Given the description of an element on the screen output the (x, y) to click on. 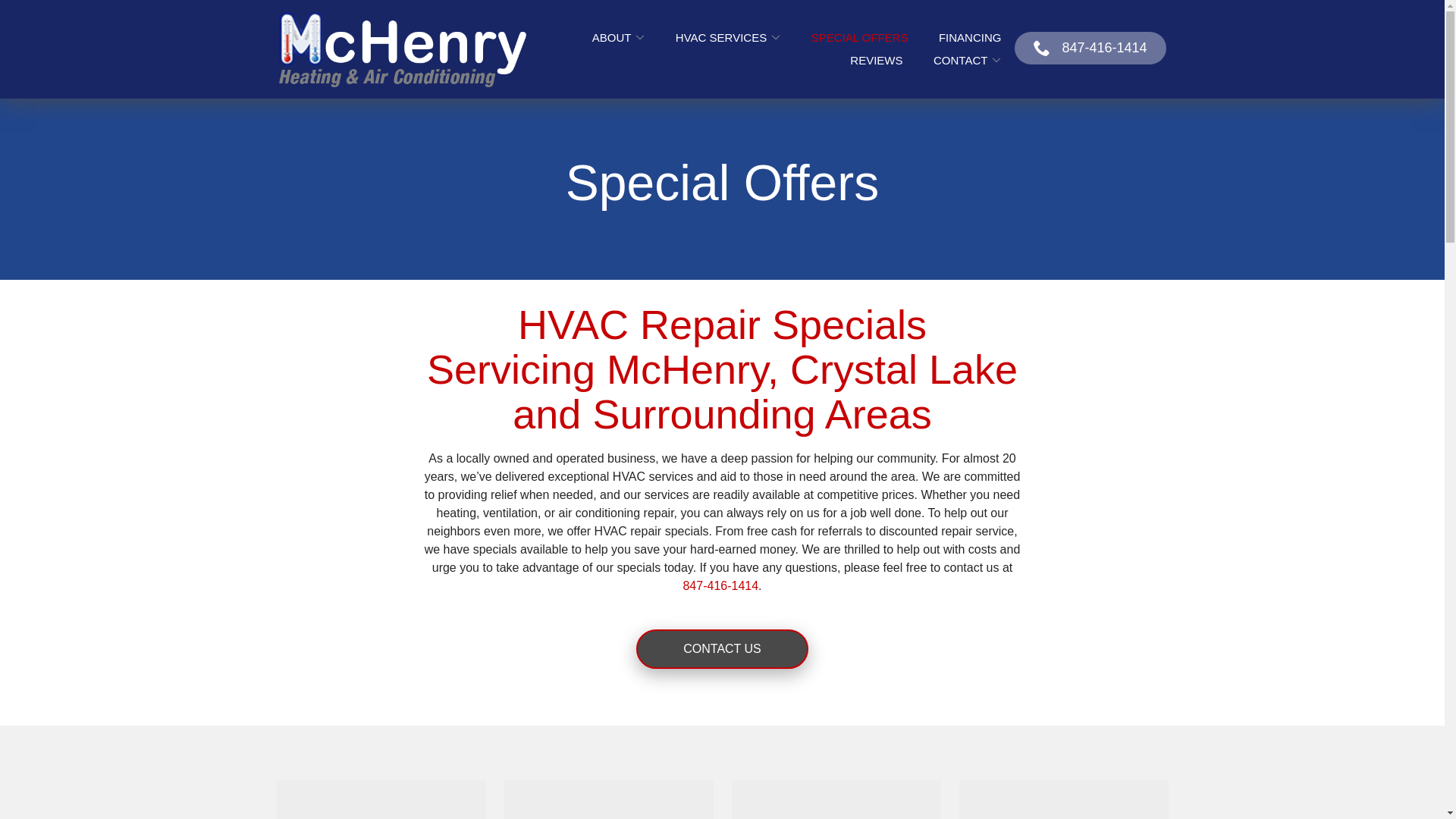
FINANCING (970, 37)
ABOUT (618, 37)
CONTACT (967, 60)
SPECIAL OFFERS (859, 37)
HVAC SERVICES (727, 37)
REVIEWS (876, 60)
